Given the description of an element on the screen output the (x, y) to click on. 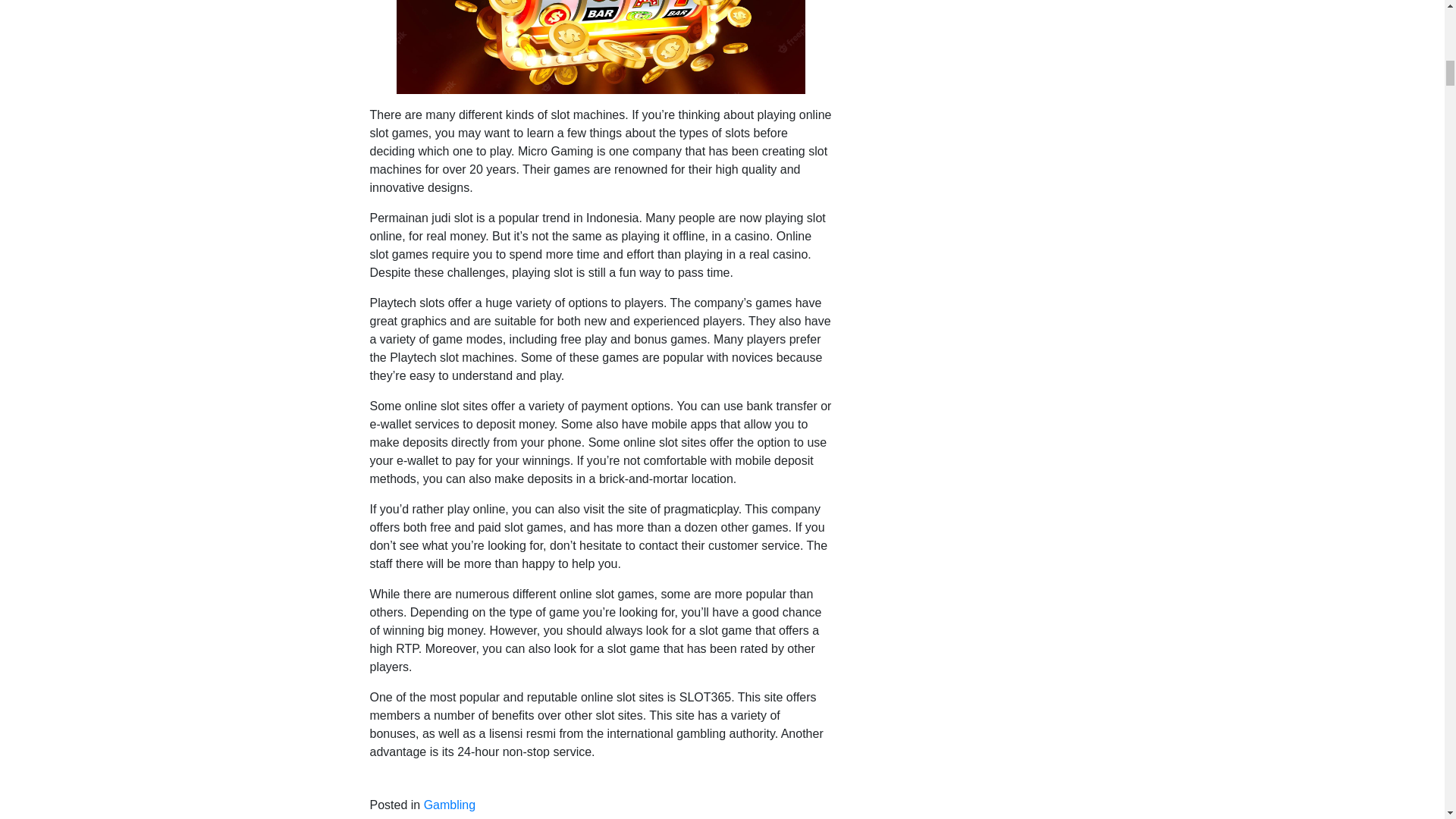
Gambling (449, 804)
